Given the description of an element on the screen output the (x, y) to click on. 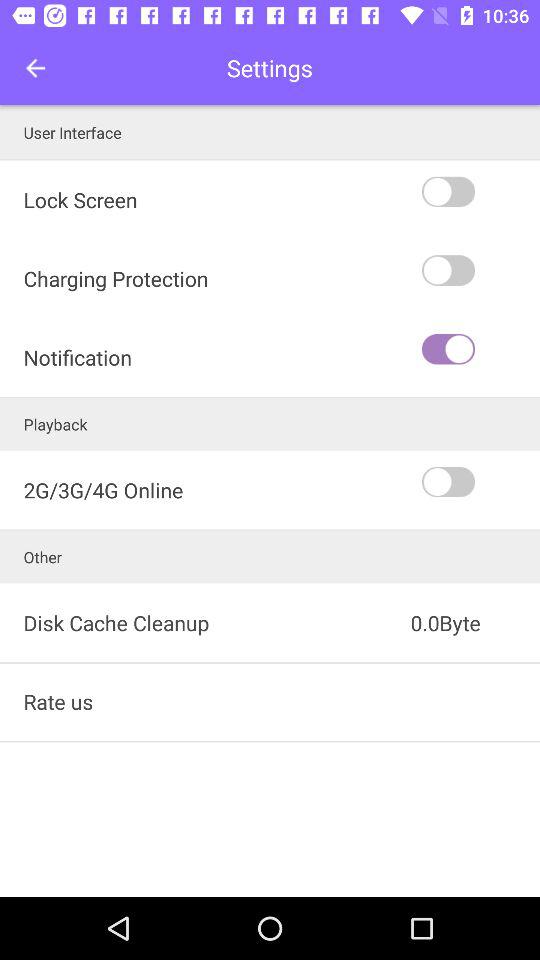
open the icon next to charging protection item (479, 349)
